Given the description of an element on the screen output the (x, y) to click on. 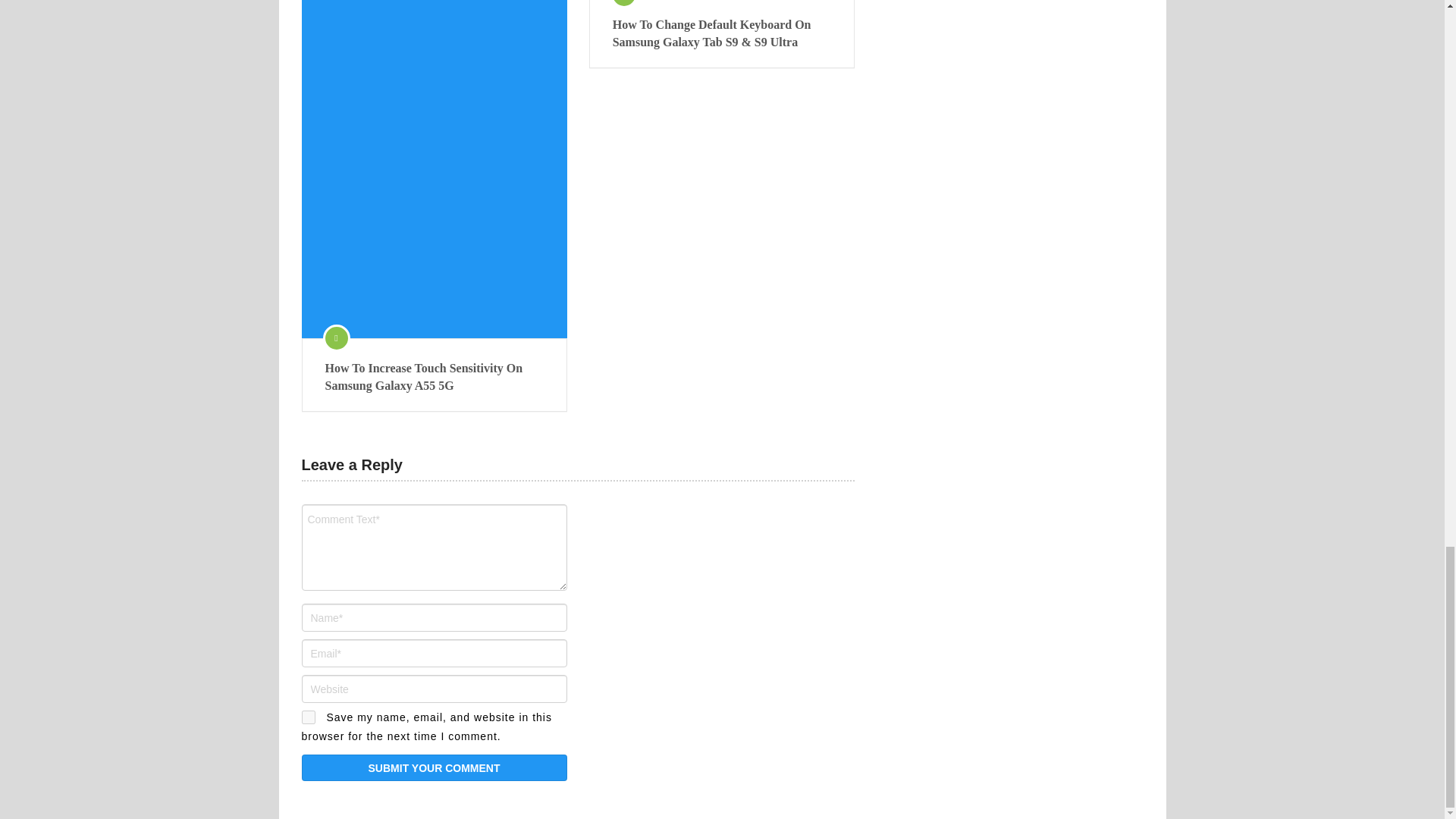
How To Increase Touch Sensitivity On Samsung Galaxy A55 5G (433, 376)
yes (308, 716)
Submit Your Comment (434, 767)
How To Increase Touch Sensitivity On Samsung Galaxy A55 5G (433, 376)
Submit Your Comment (434, 767)
